Given the description of an element on the screen output the (x, y) to click on. 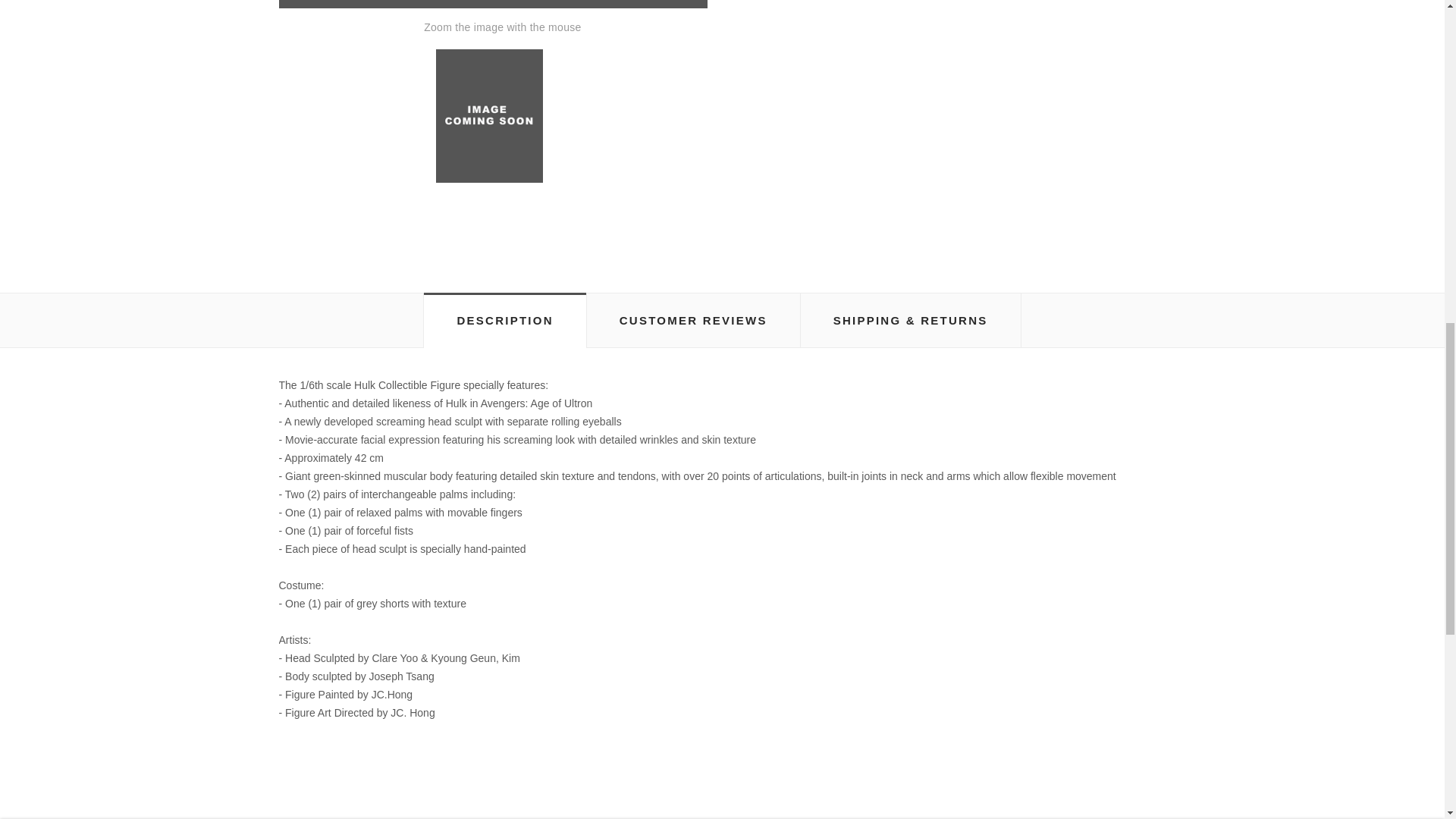
1 (775, 23)
Add to cart (929, 23)
